Given the description of an element on the screen output the (x, y) to click on. 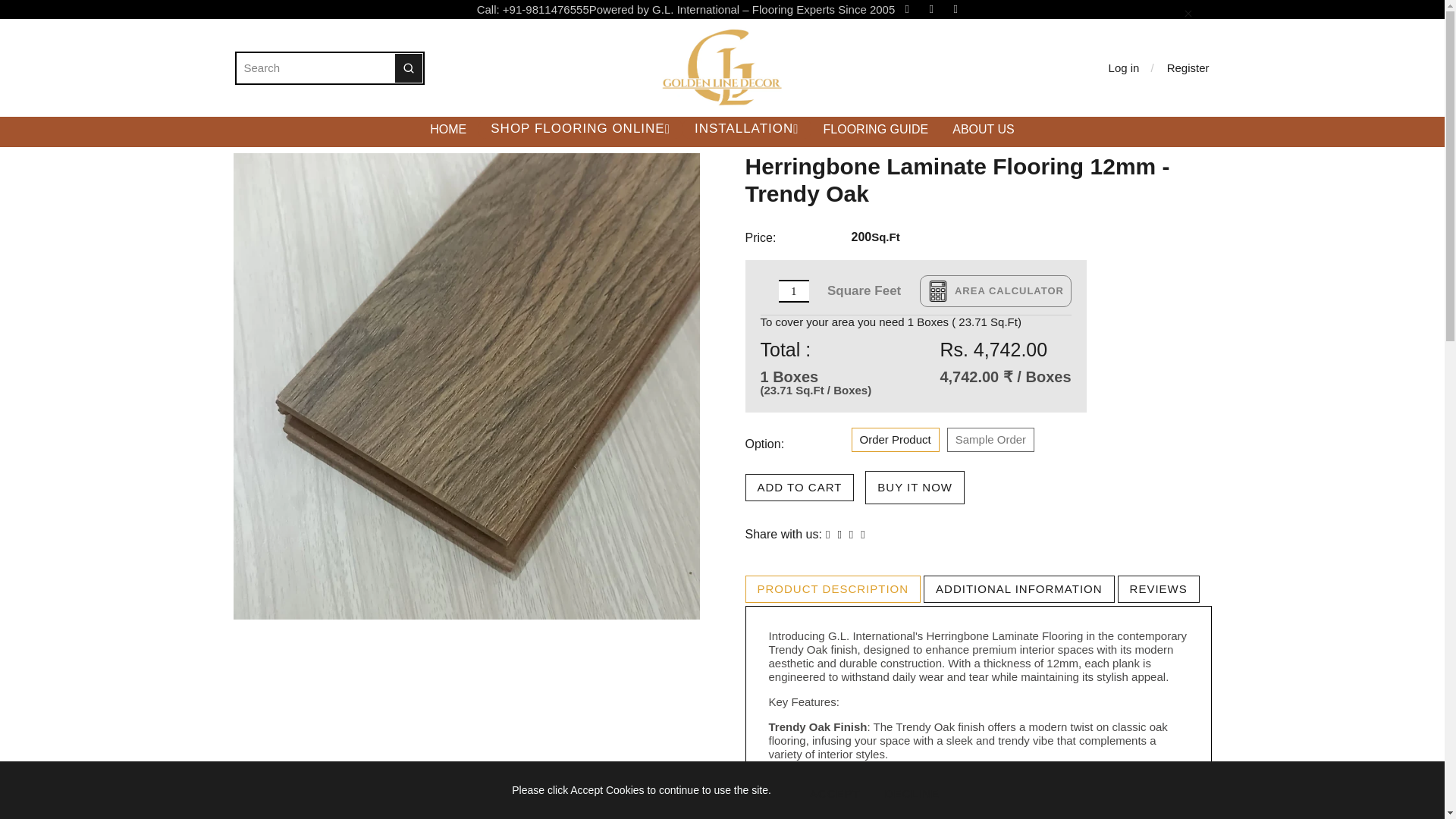
Linkedin (954, 10)
Log in (1131, 67)
HOME (448, 129)
Linkedin (954, 10)
Facebook (906, 10)
INSTALLATION (746, 128)
Instagram (931, 10)
Facebook (906, 10)
SHOP FLOORING ONLINE (580, 128)
Instagram (931, 10)
1 (793, 291)
Register (1182, 67)
